Given the description of an element on the screen output the (x, y) to click on. 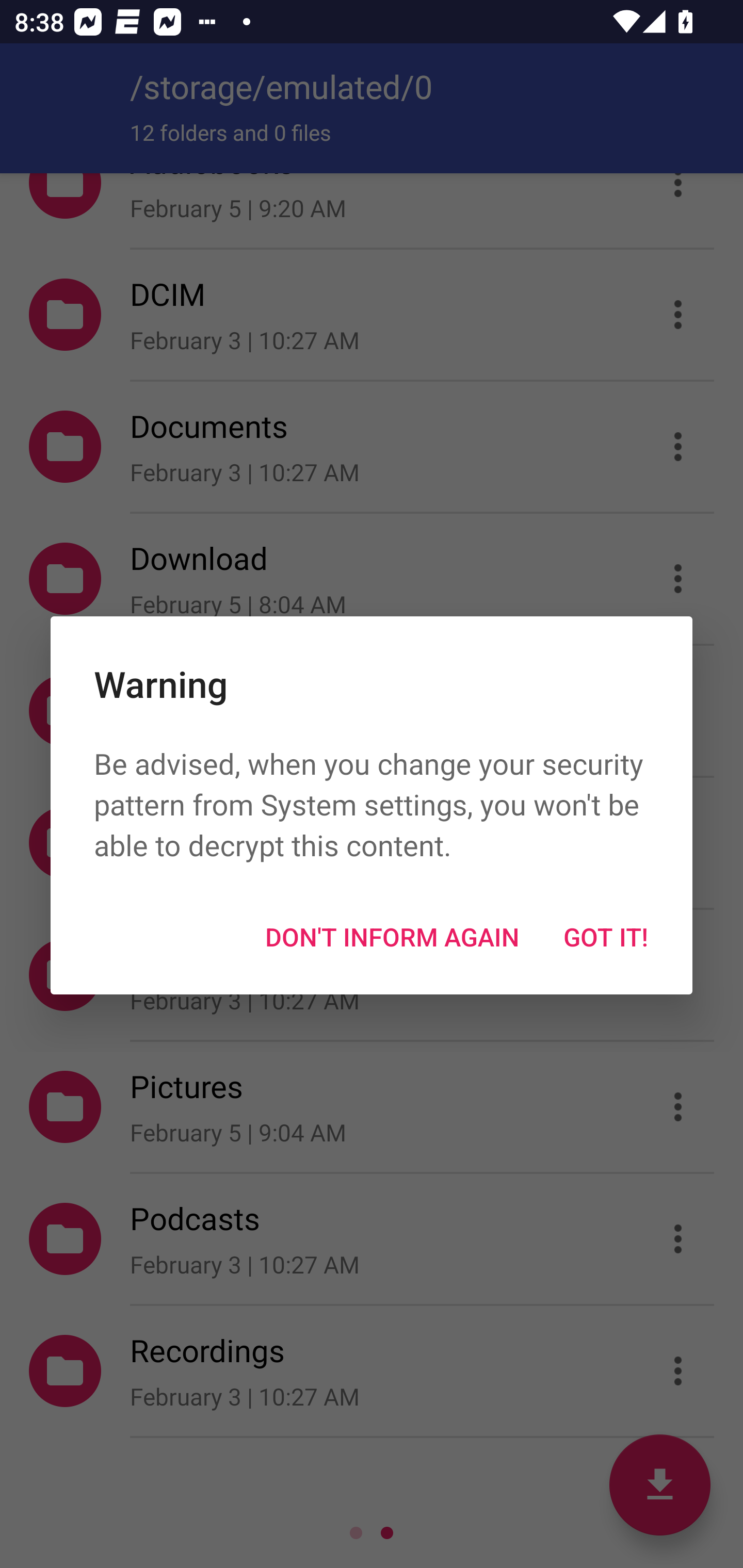
DON'T INFORM AGAIN (391, 936)
GOT IT! (605, 936)
